Given the description of an element on the screen output the (x, y) to click on. 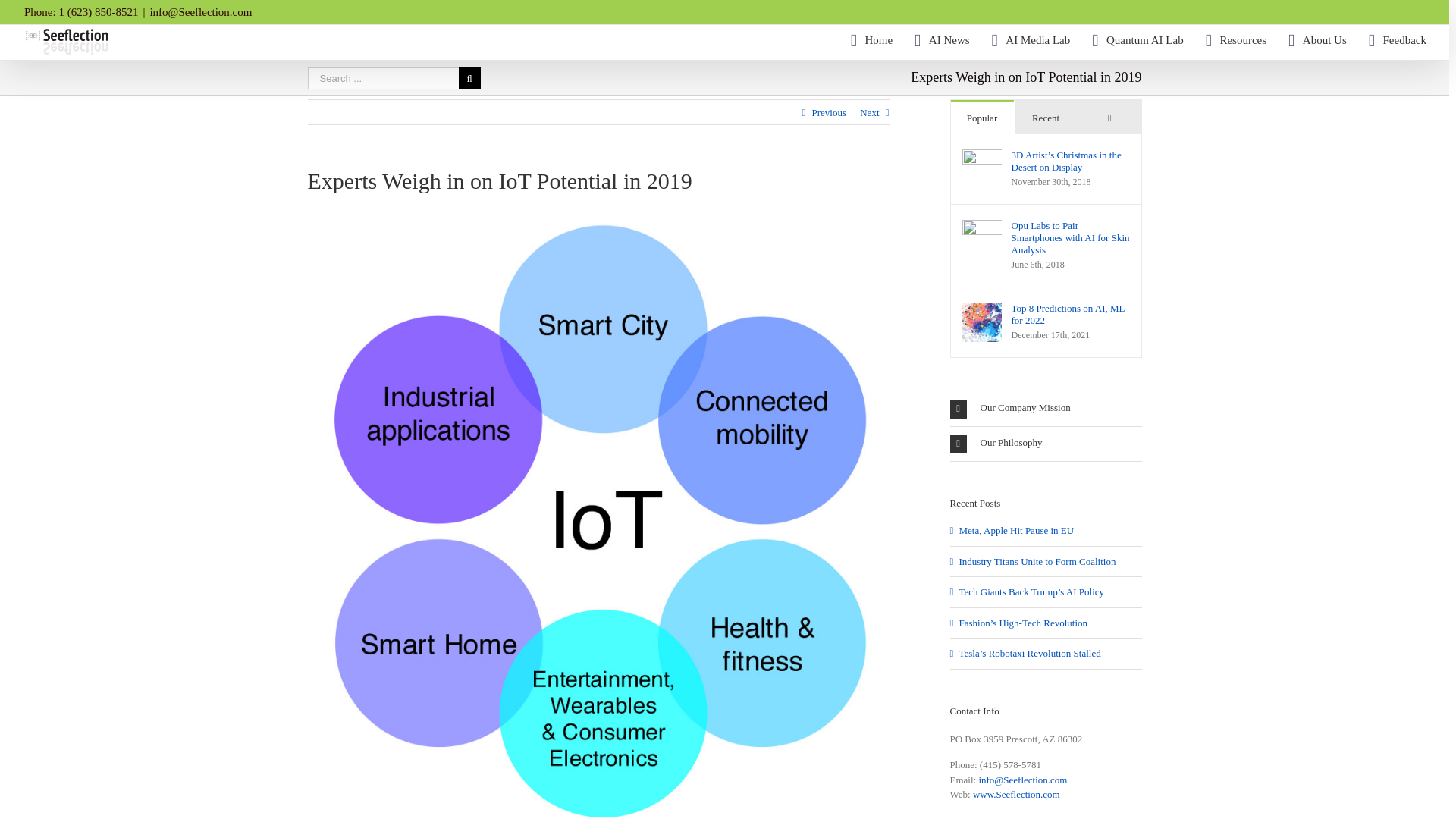
Feedback (1397, 40)
Resources (1235, 40)
Quantum AI Lab (1137, 40)
AI News (941, 40)
AI Media Lab (1030, 40)
Home (871, 40)
Previous (827, 112)
About Us (1317, 40)
